Given the description of an element on the screen output the (x, y) to click on. 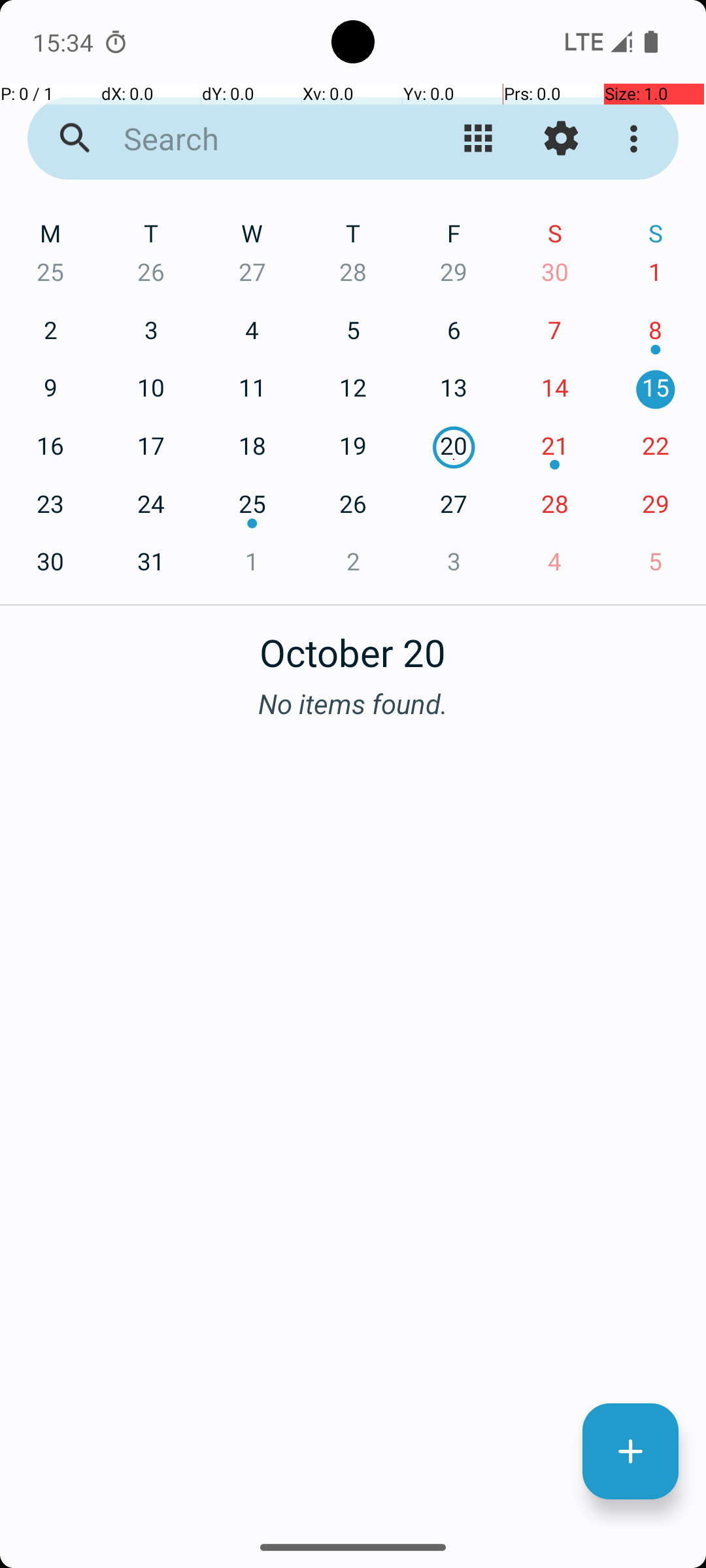
October 20 Element type: android.widget.TextView (352, 644)
